Given the description of an element on the screen output the (x, y) to click on. 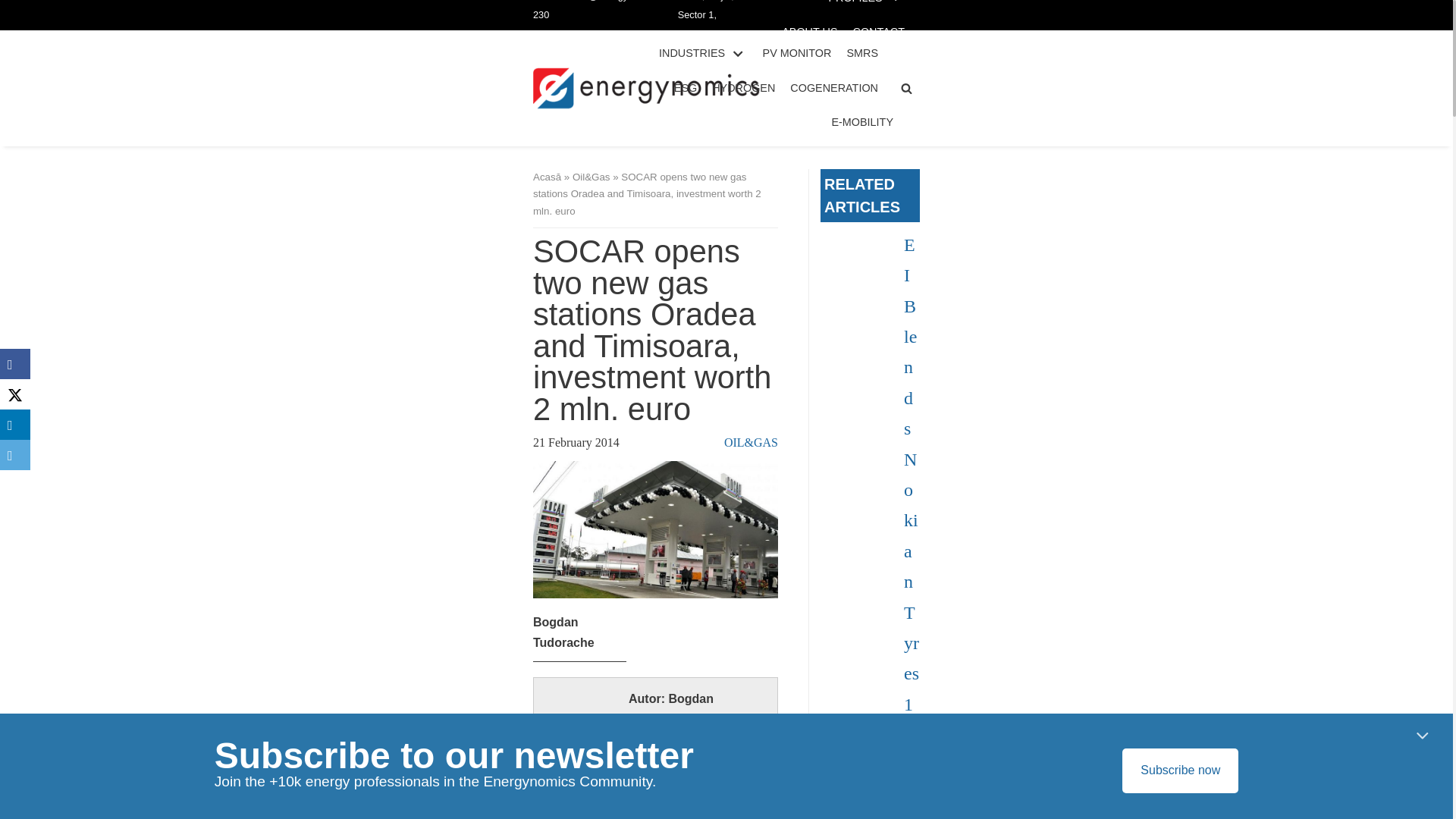
Skip to content (15, 7)
INDUSTRIES (703, 53)
Str. Teheran nr. 22, etaj 1, Sector 1, Bucuresti, 011932 (708, 29)
energynomics.ro (646, 87)
CONTACT (877, 31)
ABOUT US (809, 31)
PROFILES (866, 3)
